Given the description of an element on the screen output the (x, y) to click on. 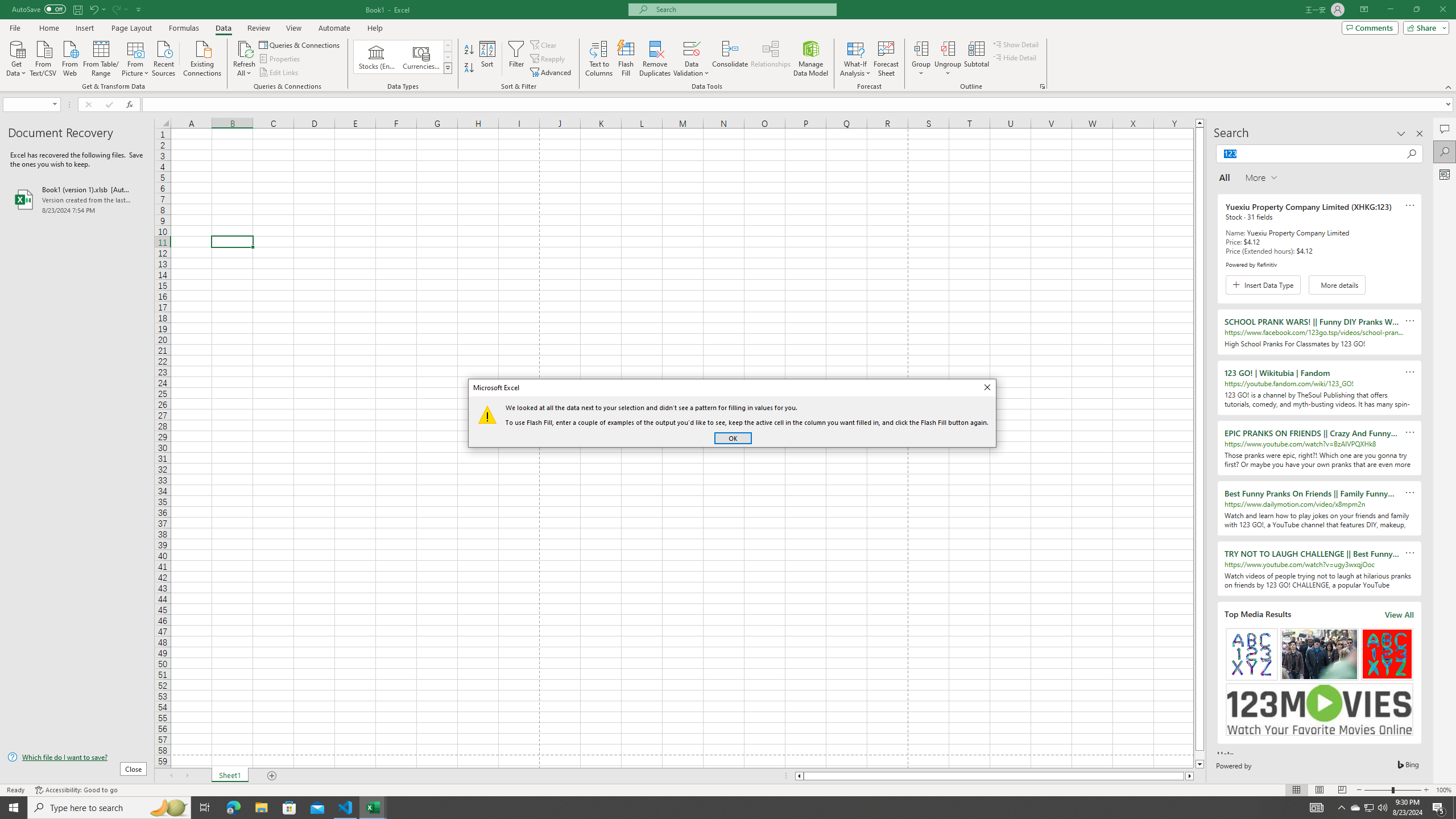
Relationships (770, 58)
Queries & Connections (300, 44)
Type here to search (108, 807)
AutomationID: ConvertToLinkedEntity (403, 56)
